Given the description of an element on the screen output the (x, y) to click on. 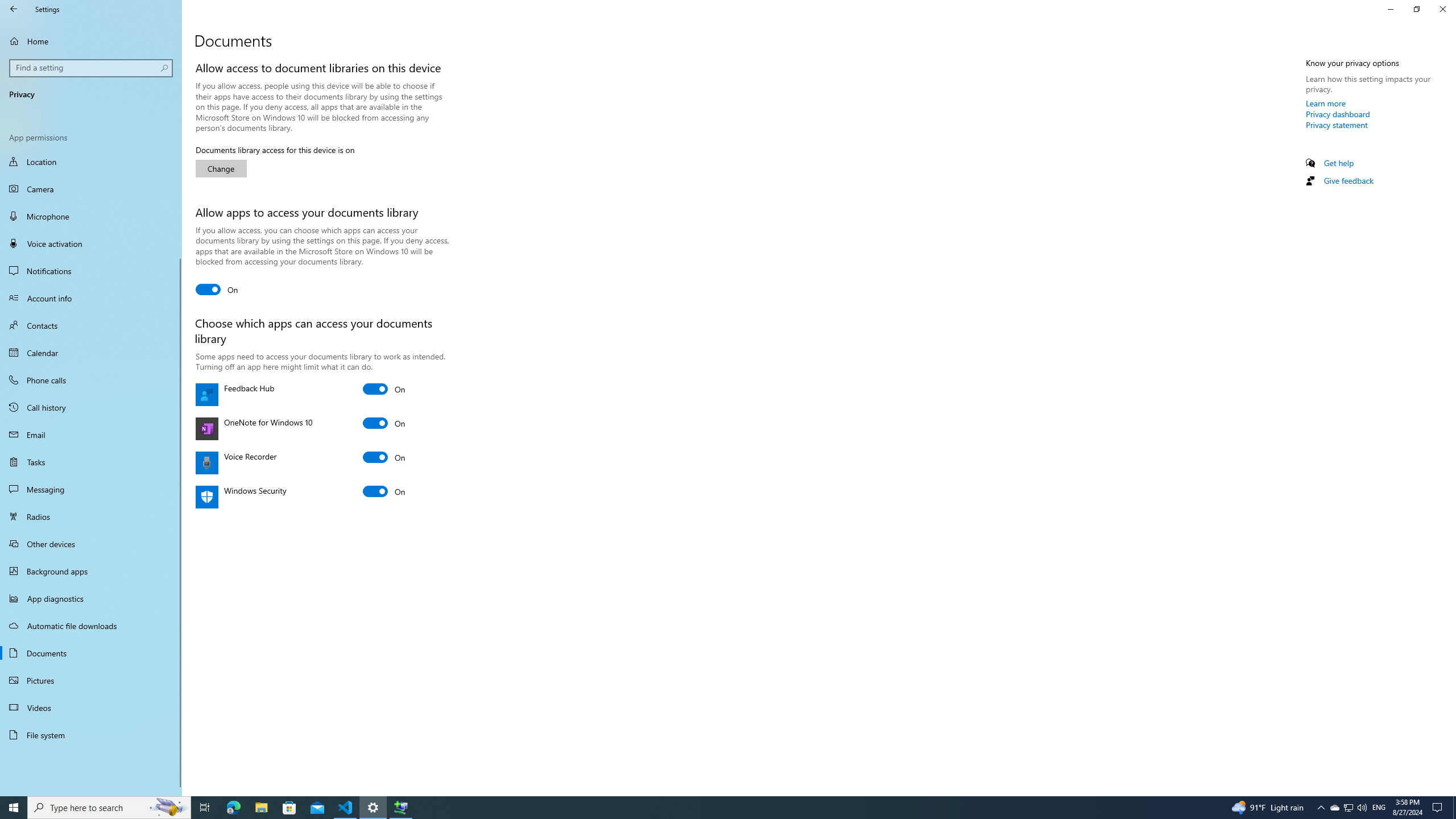
Videos (91, 707)
Calendar (91, 352)
Messaging (91, 488)
Microphone (91, 216)
Visual Studio Code - 1 running window (345, 807)
Voice activation (91, 243)
Radios (91, 515)
Phone calls (91, 379)
Pictures (91, 679)
Settings - 1 running window (373, 807)
Tray Input Indicator - English (United States) (1378, 807)
OneNote for Windows 10 (384, 423)
Restore Settings (1416, 9)
Microsoft Edge (233, 807)
User Promoted Notification Area (1347, 807)
